Given the description of an element on the screen output the (x, y) to click on. 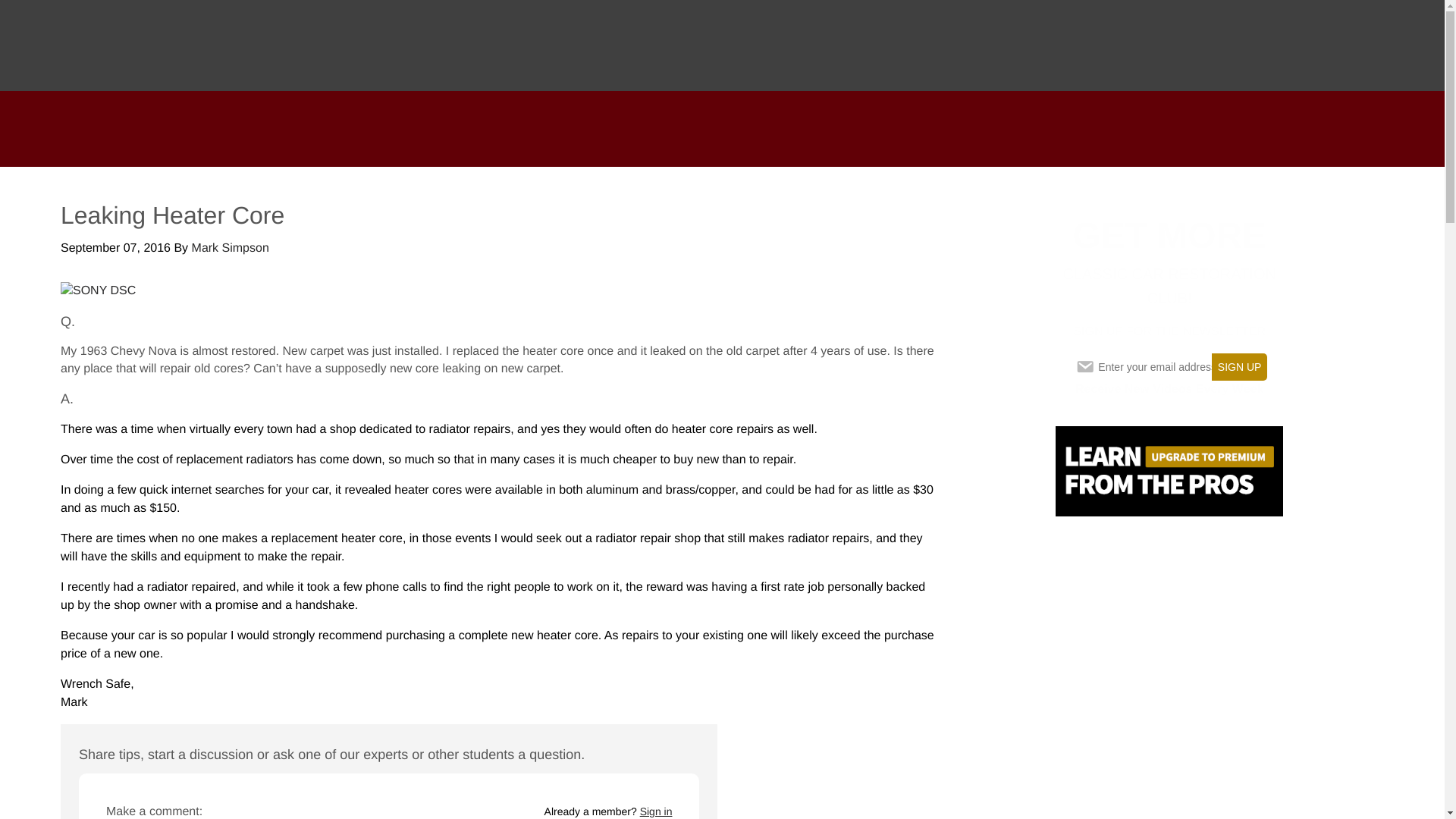
Mark Simpson (230, 247)
Sign Up (1238, 366)
Sign Up (1238, 366)
Sign in (656, 811)
